Given the description of an element on the screen output the (x, y) to click on. 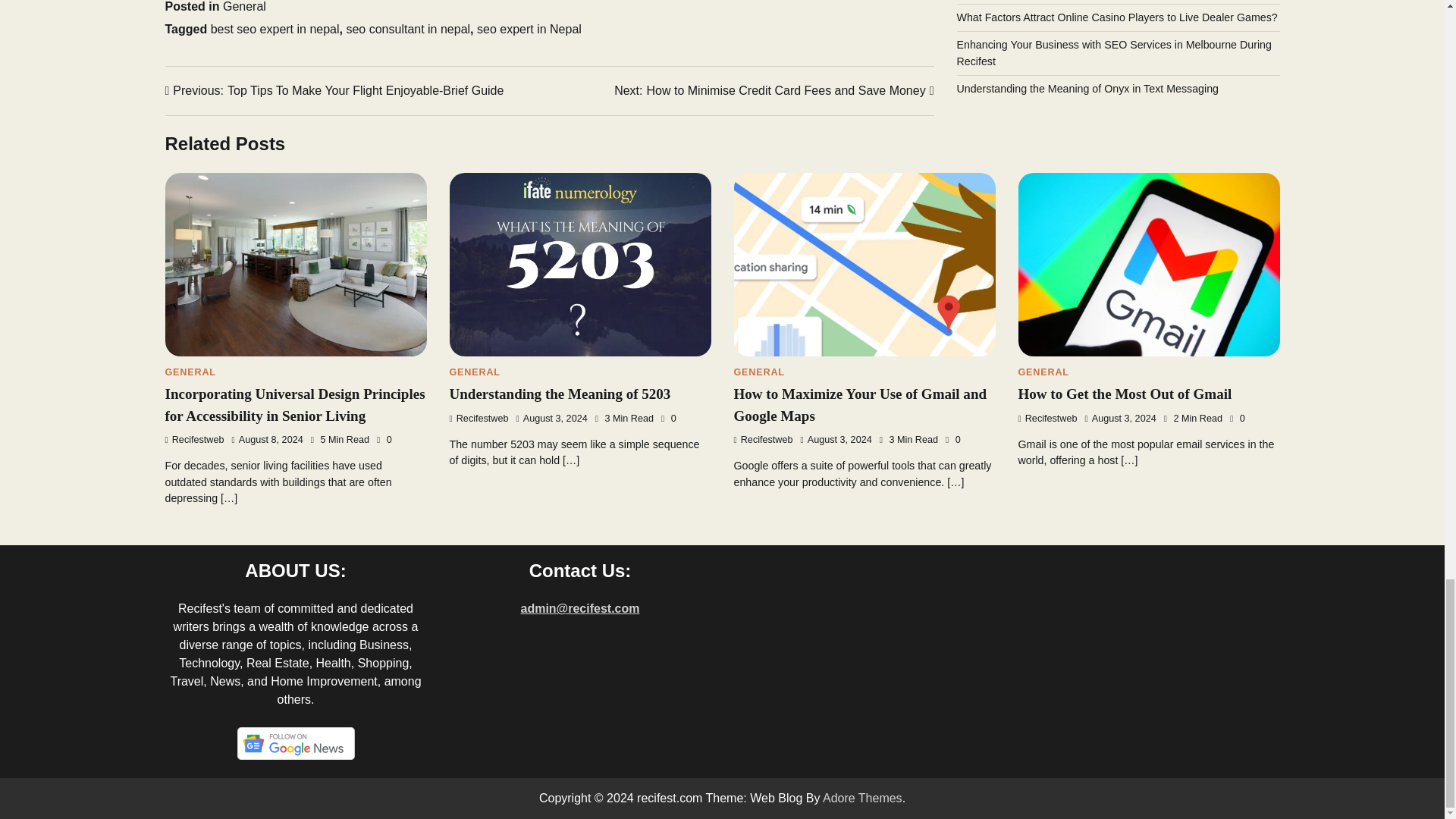
GENERAL (473, 371)
GENERAL (334, 90)
seo expert in Nepal (190, 371)
Recifestweb (528, 28)
Understanding the Meaning of 5203 (478, 418)
GENERAL (558, 393)
Recifestweb (758, 371)
seo consultant in nepal (194, 439)
